Given the description of an element on the screen output the (x, y) to click on. 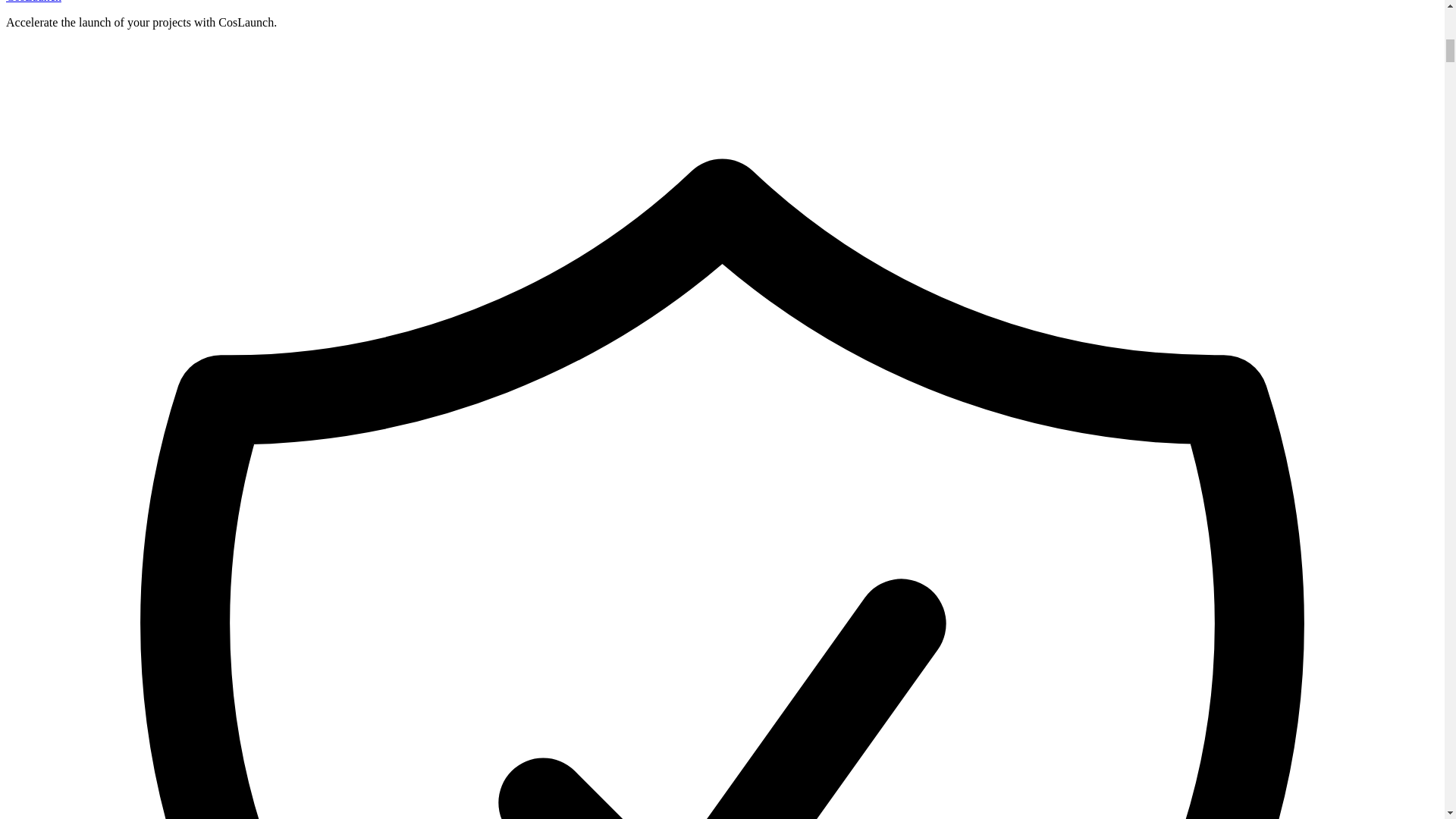
CosLaunch (33, 1)
CosLaunch (33, 1)
